Given the description of an element on the screen output the (x, y) to click on. 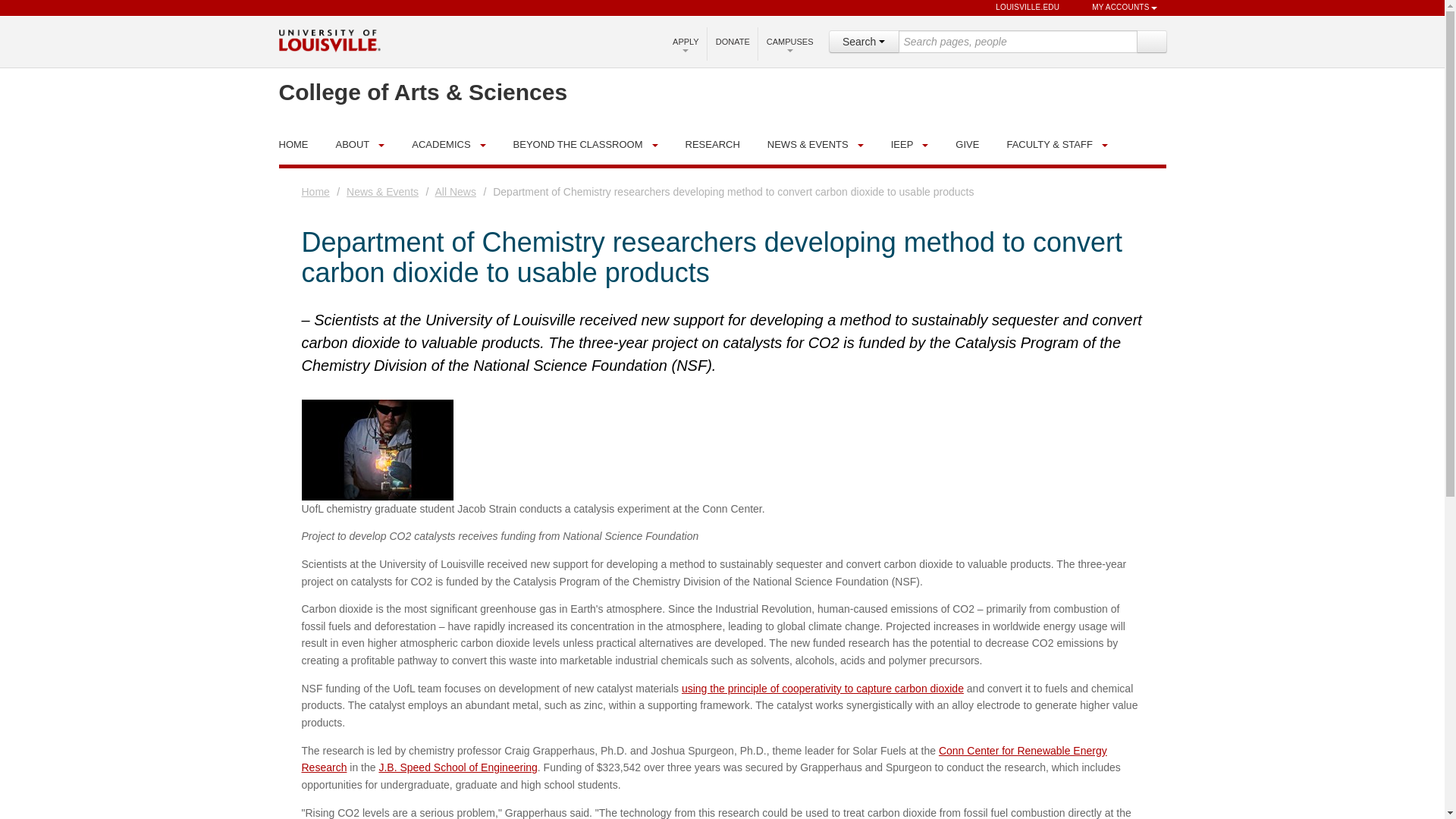
University of Louisville (329, 39)
Go (1150, 41)
Search (1150, 41)
Search  (863, 41)
APPLY (685, 43)
LOUISVILLE.EDU (1020, 7)
MY ACCOUNTS (1117, 7)
